Given the description of an element on the screen output the (x, y) to click on. 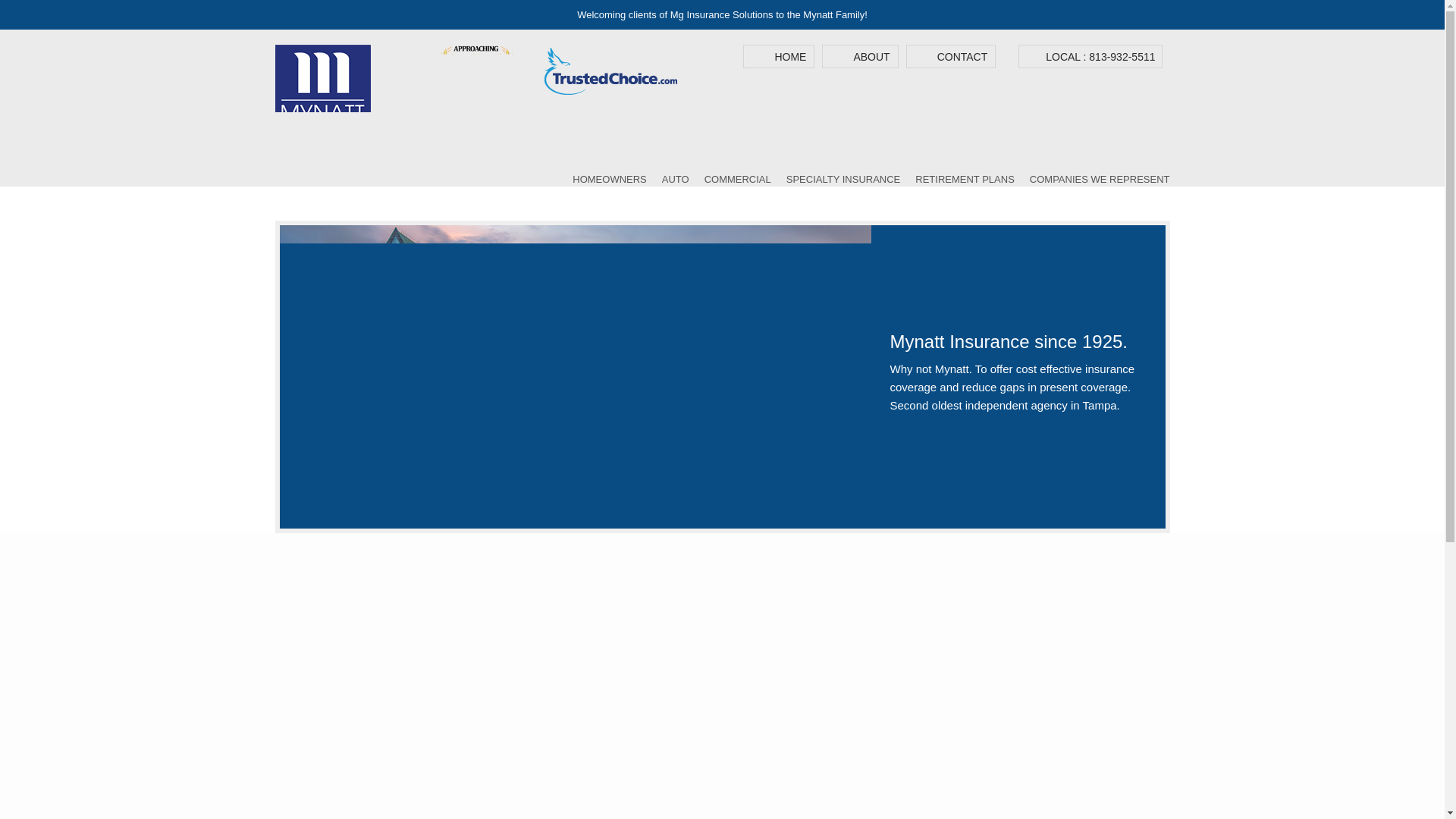
RETIREMENT PLANS (964, 179)
LOCAL : 813-932-5511 (1099, 56)
HOMEOWNERS (608, 179)
HOME (790, 56)
ABOUT (870, 56)
CONTACT (962, 56)
Mynatt Insurance Agency (322, 51)
COMPANIES WE REPRESENT (1099, 179)
AUTO (675, 179)
